Given the description of an element on the screen output the (x, y) to click on. 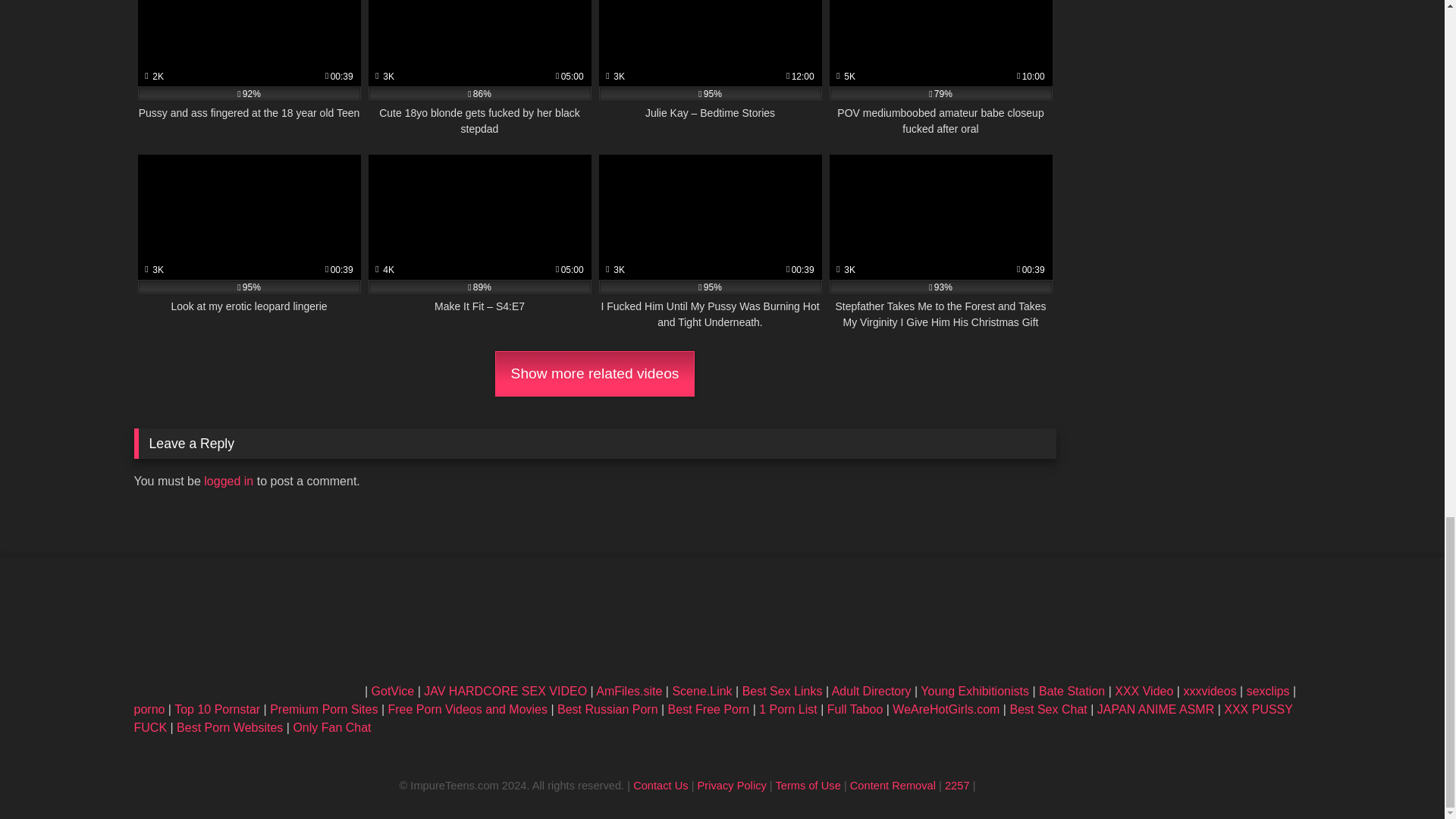
Pussy and ass fingered at the 18 year old Teen (249, 68)
POV mediumboobed amateur babe closeup fucked after oral (940, 68)
Show more related videos (594, 373)
Cute 18yo blonde gets fucked by her black stepdad (479, 68)
Look at my erotic leopard lingerie (249, 242)
